Given the description of an element on the screen output the (x, y) to click on. 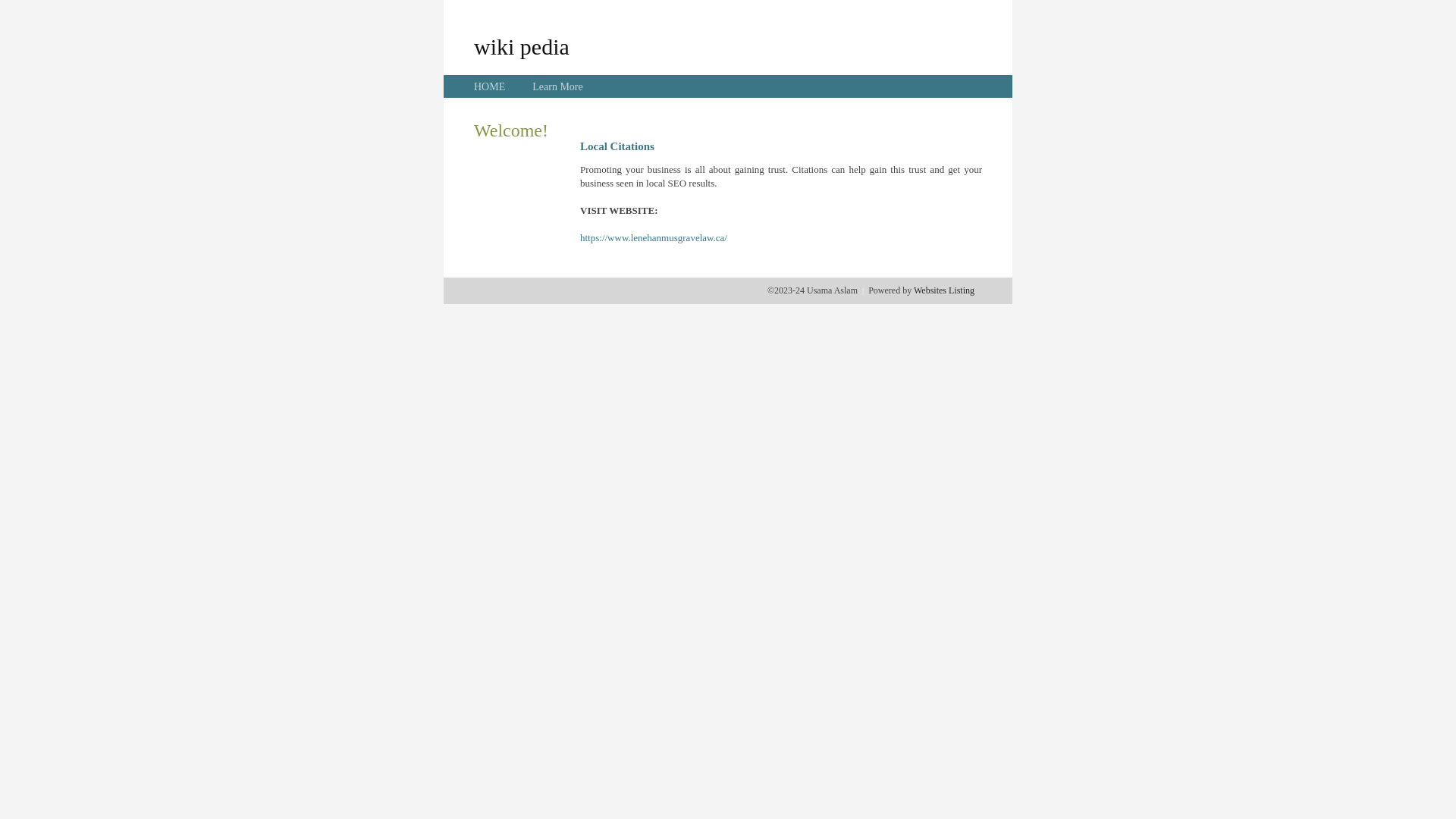
https://www.lenehanmusgravelaw.ca/ Element type: text (653, 237)
Websites Listing Element type: text (943, 290)
Learn More Element type: text (557, 86)
wiki pedia Element type: text (521, 46)
HOME Element type: text (489, 86)
